Given the description of an element on the screen output the (x, y) to click on. 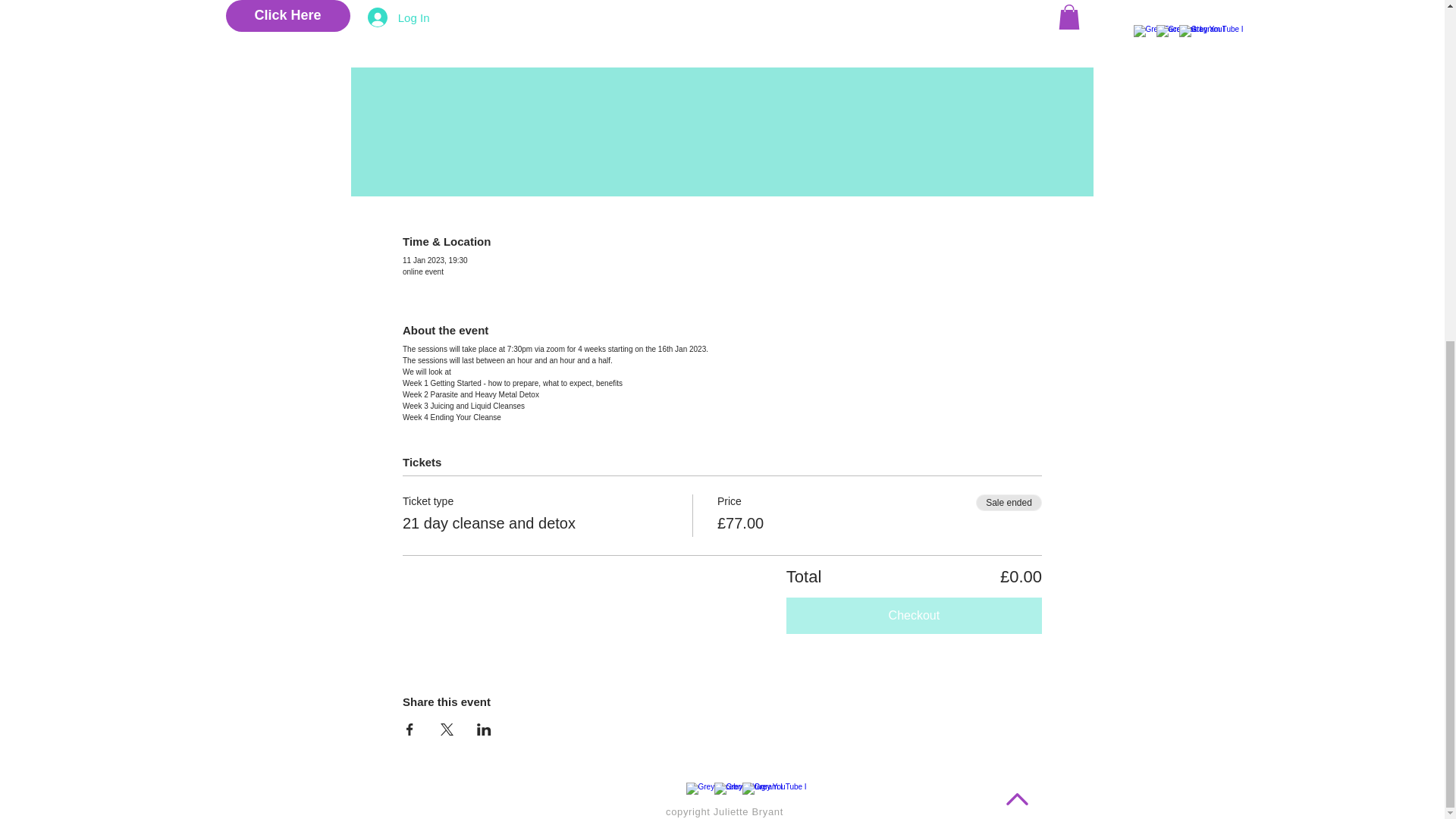
Checkout (914, 615)
